Given the description of an element on the screen output the (x, y) to click on. 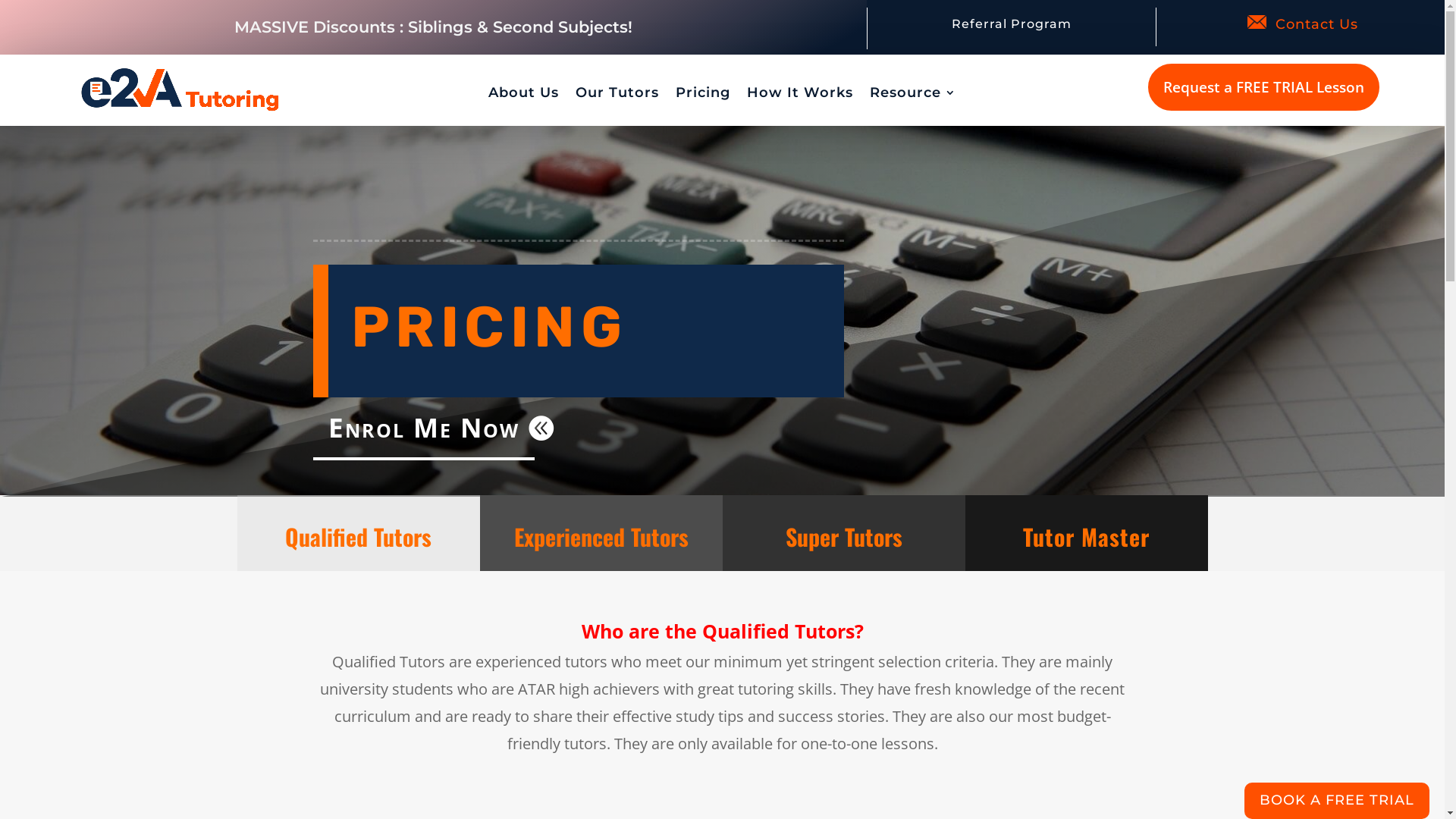
e2A_Logo_269x64_rev1 Element type: hover (180, 89)
Tutor Master Element type: text (1085, 536)
Resource Element type: text (912, 94)
Qualified Tutors Element type: text (358, 536)
Contact Us Element type: text (1316, 23)
Request a FREE TRIAL Lesson Element type: text (1263, 87)
Super Tutors Element type: text (843, 536)
Referral Program Element type: text (1011, 23)
Experienced Tutors Element type: text (601, 536)
Pricing Element type: text (702, 94)
How It Works Element type: text (799, 94)
Our Tutors Element type: text (616, 94)
Enrol Me Now Element type: text (422, 427)
About Us Element type: text (523, 94)
